Given the description of an element on the screen output the (x, y) to click on. 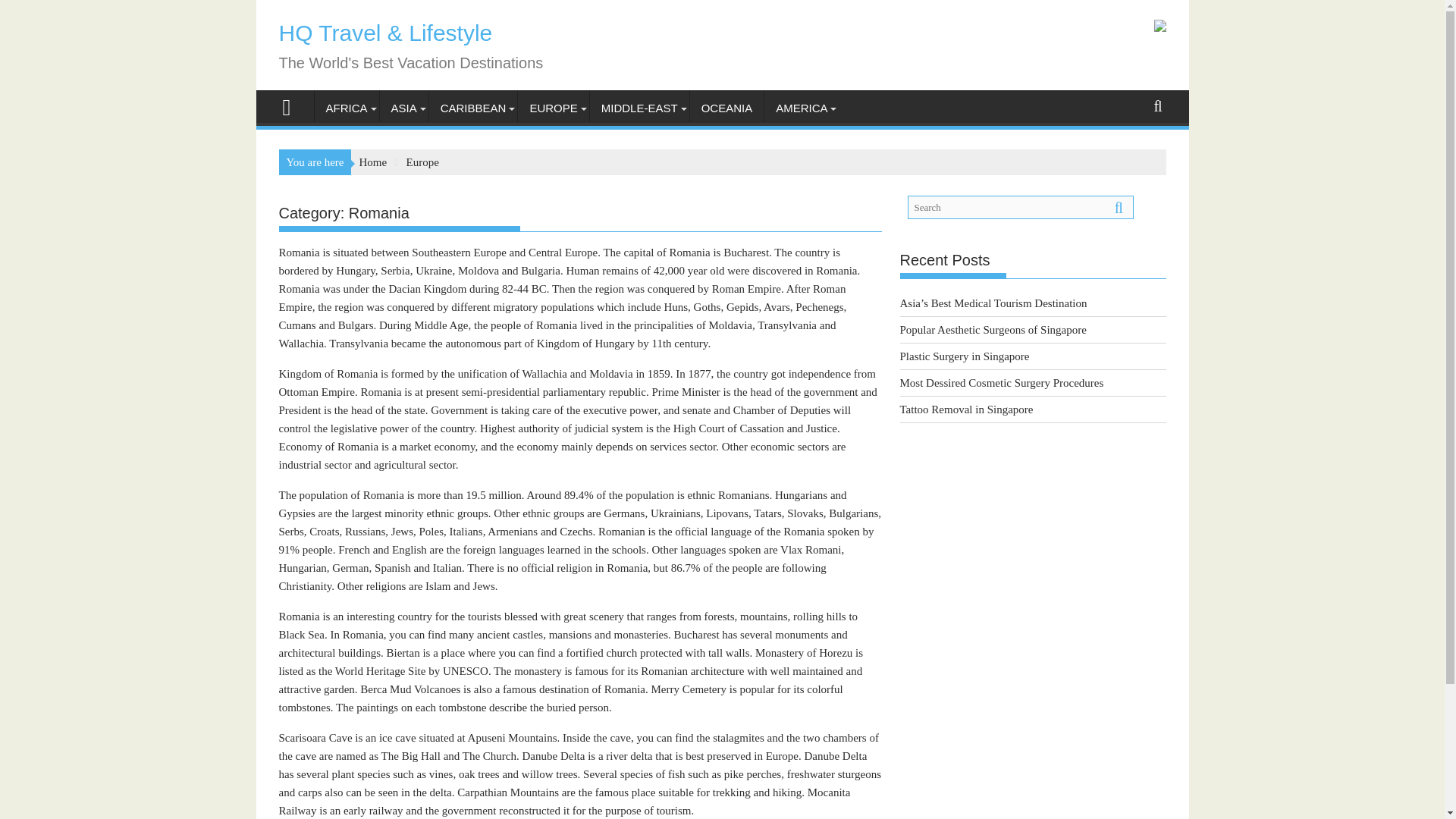
AFRICA (346, 108)
CARIBBEAN (473, 108)
EUROPE (553, 108)
MIDDLE-EAST (638, 108)
AMERICA (801, 108)
OCEANIA (727, 108)
ASIA (404, 108)
